Given the description of an element on the screen output the (x, y) to click on. 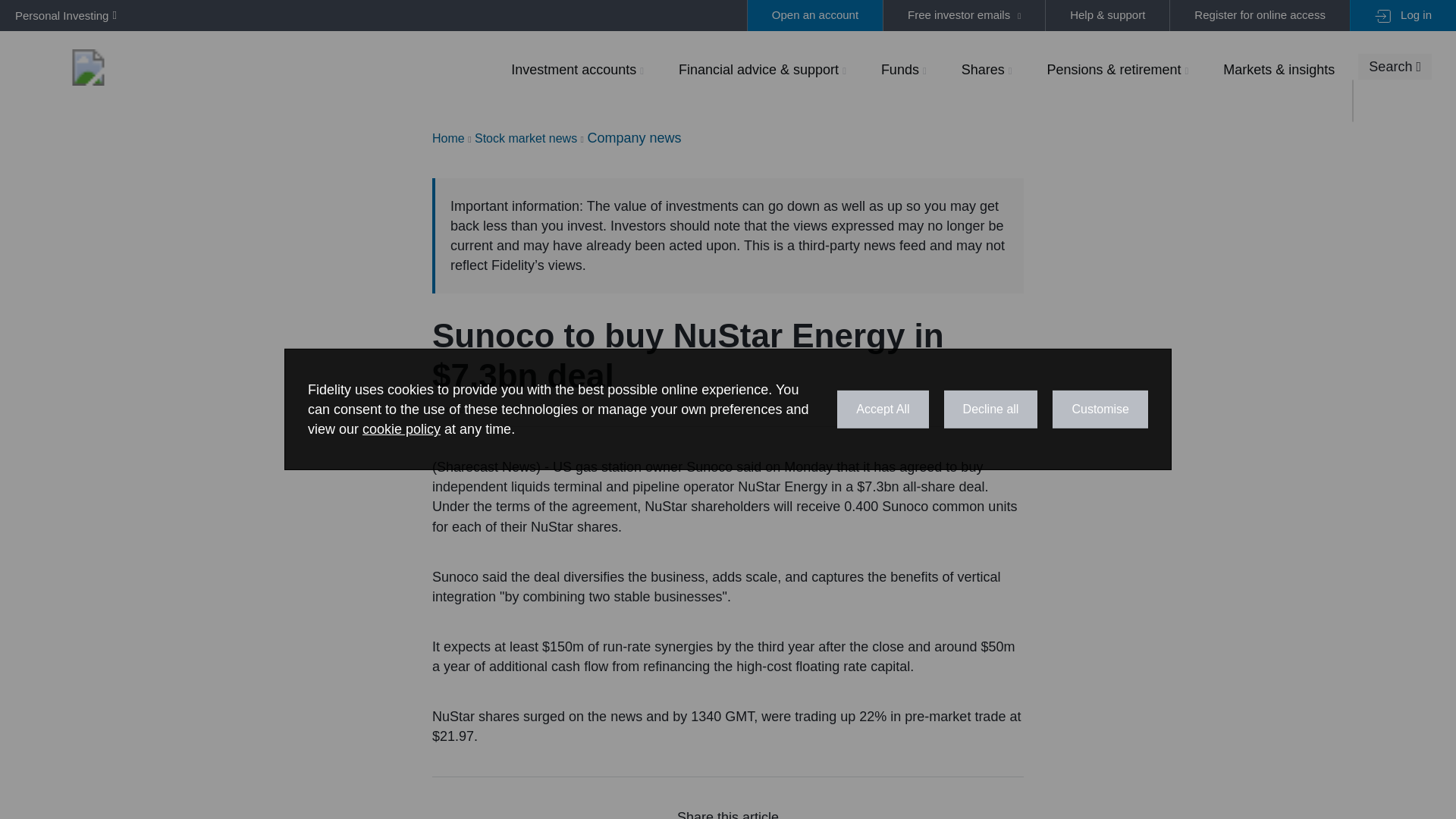
Open an account (814, 15)
Personal Investing (61, 15)
Investment accounts (576, 69)
Register for online access (1259, 15)
Fidelity International Logo (88, 67)
Free investor emails (963, 15)
Fidelity International Logo (88, 67)
